Given the description of an element on the screen output the (x, y) to click on. 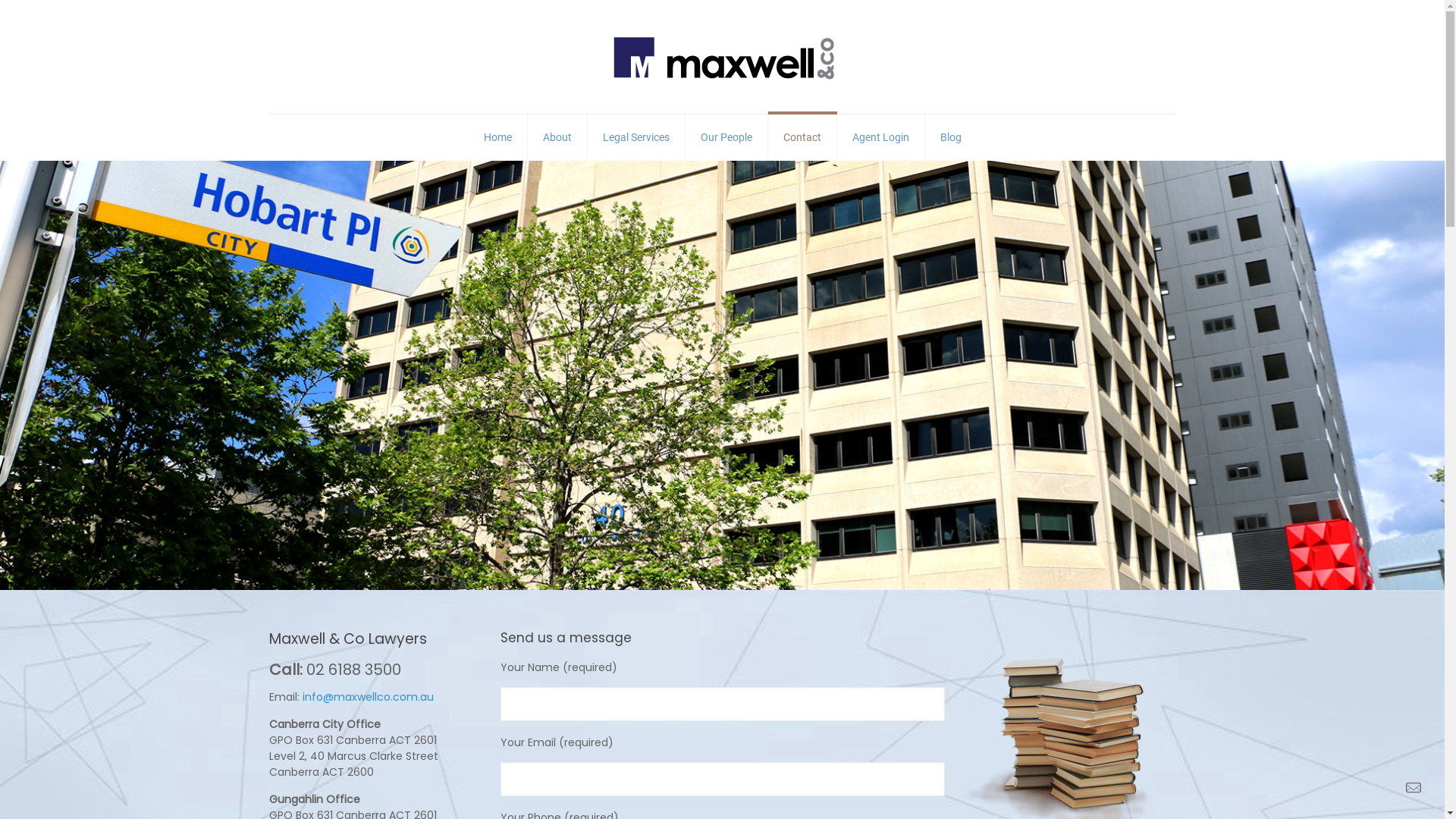
Lawyers Canberra ACT | Lawyers Sydney NSW CBD Element type: hover (721, 56)
Agent Login Element type: text (881, 137)
Home Element type: text (497, 137)
About Element type: text (557, 137)
Blog Element type: text (950, 137)
Legal Services Element type: text (635, 137)
Contact Element type: text (801, 137)
Our People Element type: text (726, 137)
info@maxwellco.com.au Element type: text (367, 696)
